Given the description of an element on the screen output the (x, y) to click on. 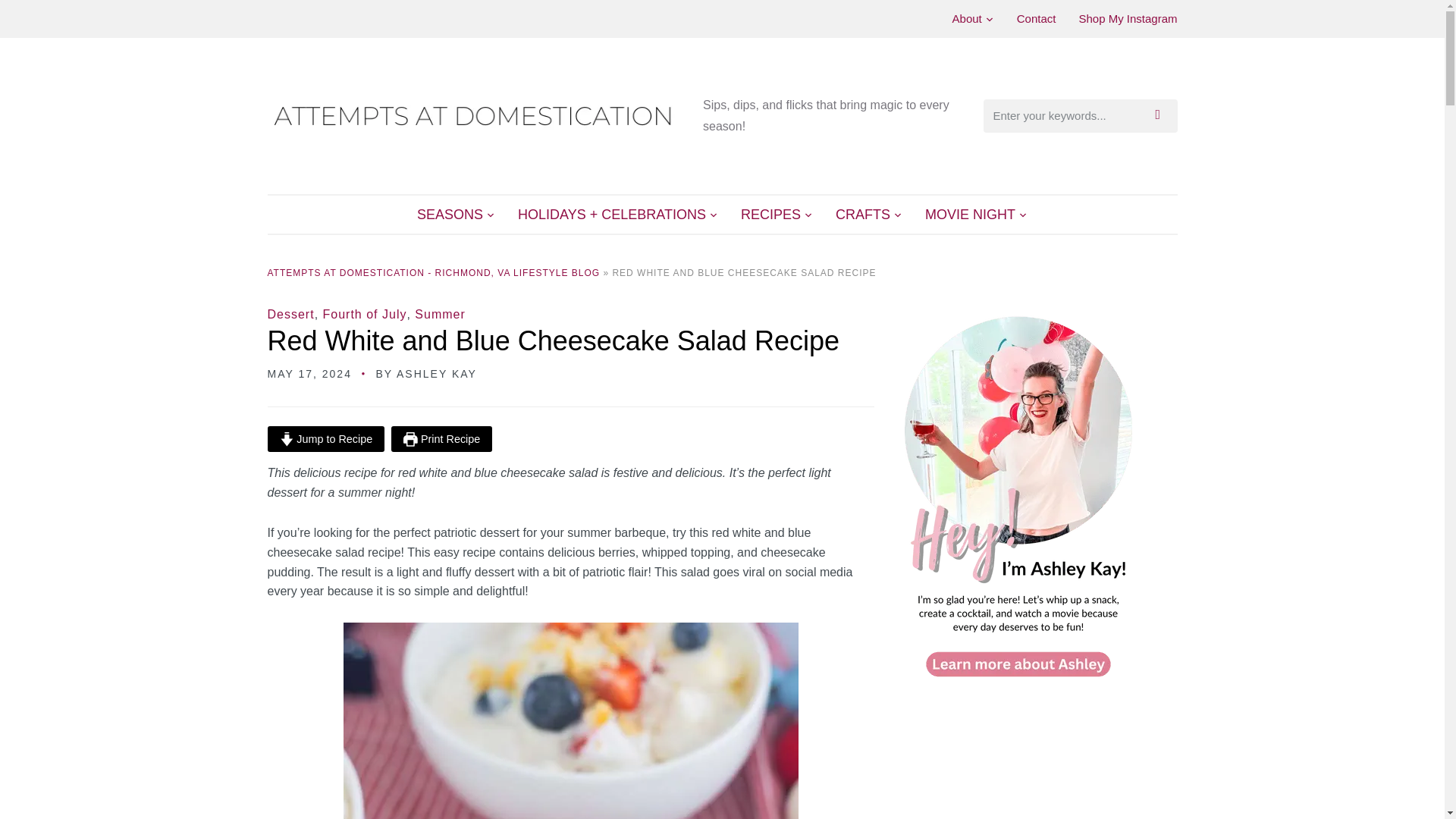
Search (1161, 115)
About (973, 18)
Shop My Instagram (1127, 18)
Search (1161, 115)
Search (1161, 115)
Posts by Ashley Kay (436, 373)
Contact (1036, 18)
